Given the description of an element on the screen output the (x, y) to click on. 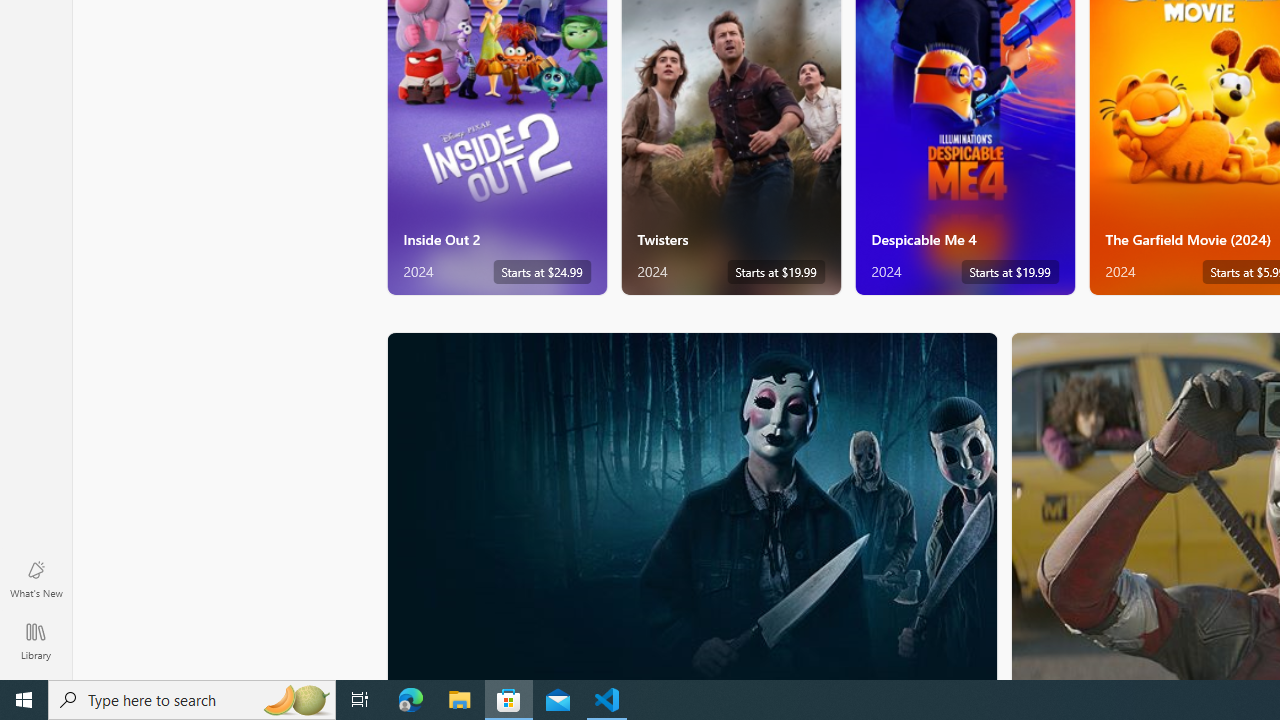
AutomationID: PosterImage (690, 505)
Horror (692, 505)
